Given the description of an element on the screen output the (x, y) to click on. 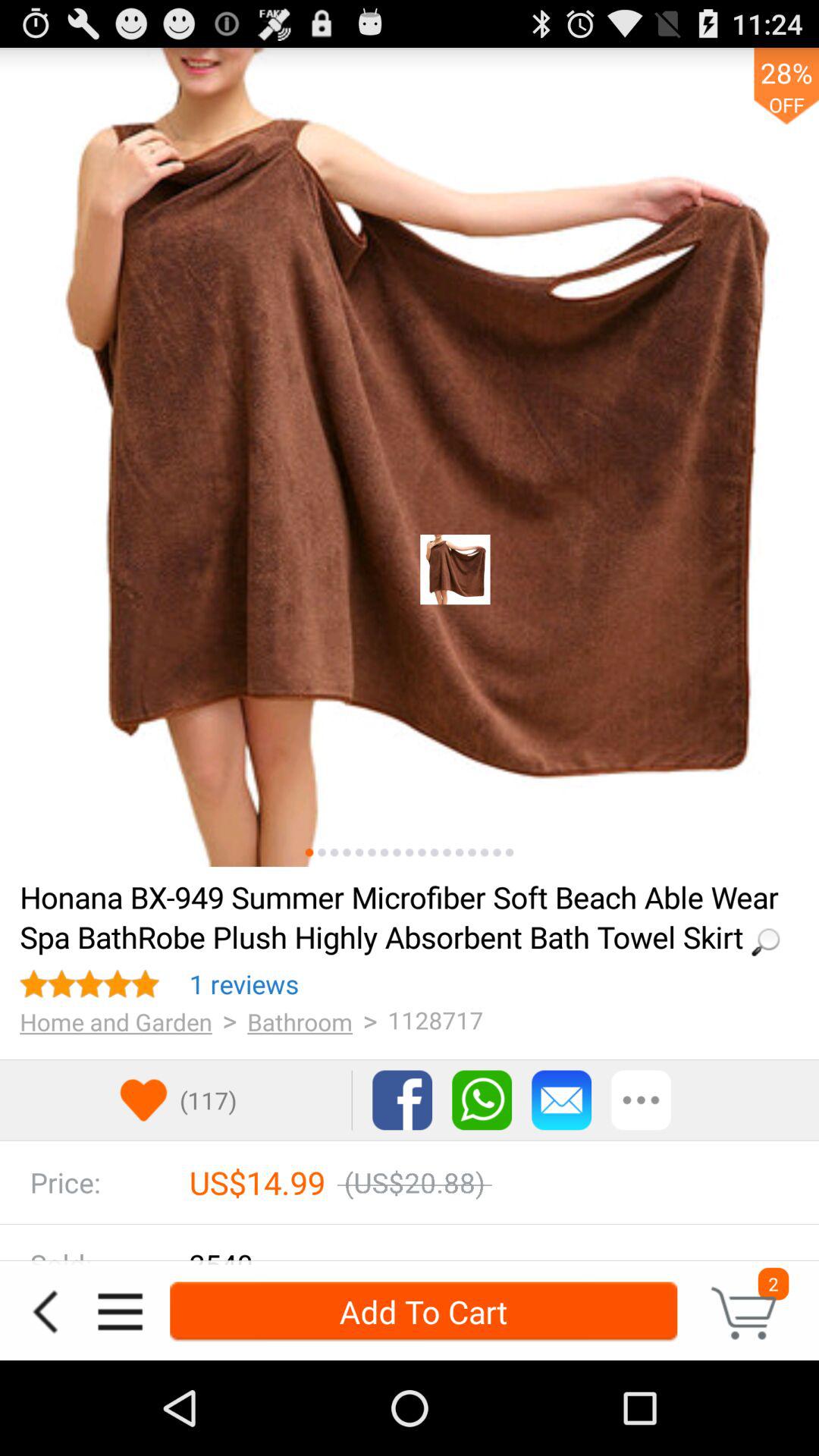
get the towel (409, 456)
